Given the description of an element on the screen output the (x, y) to click on. 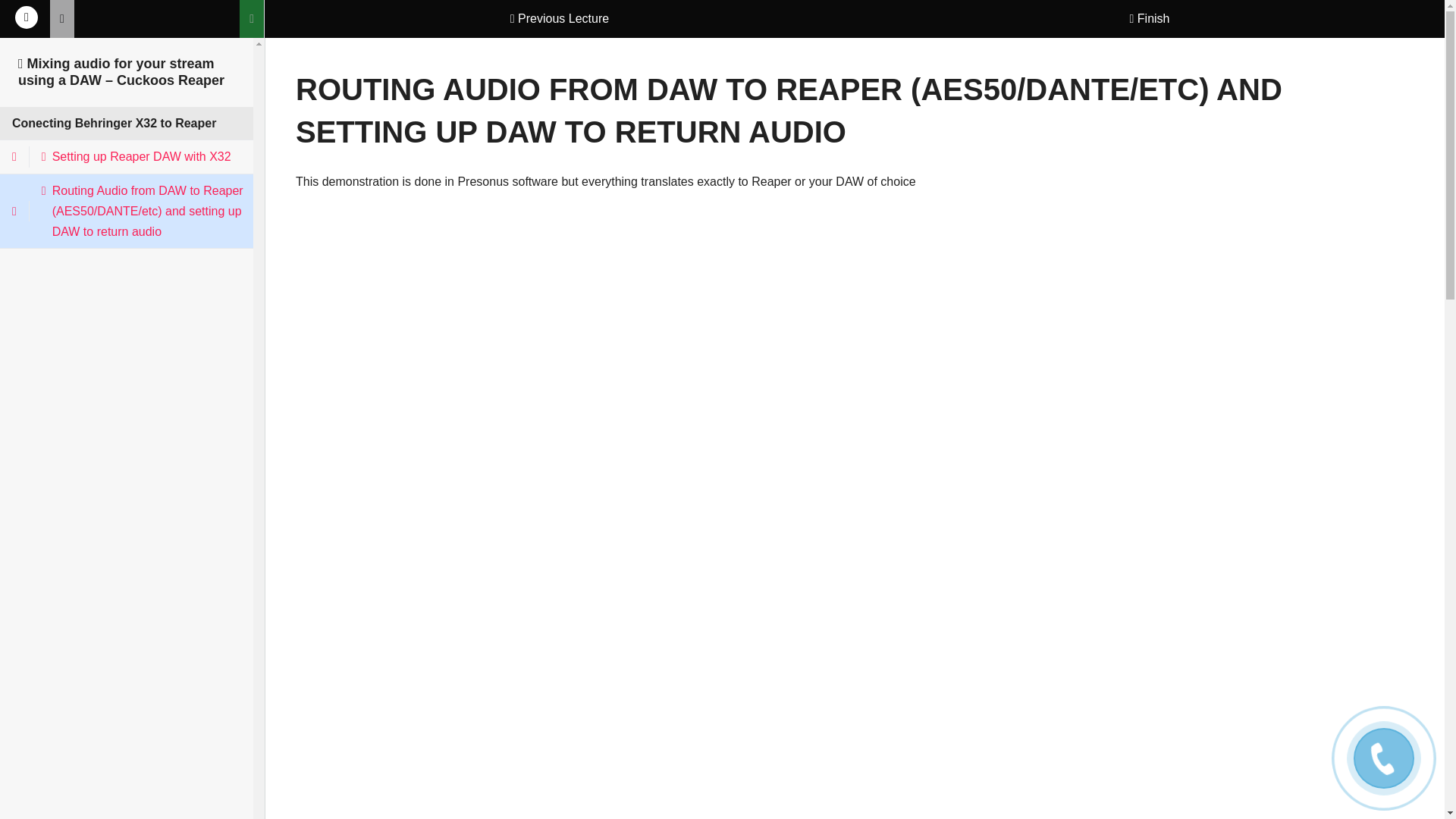
Previous Lecture (559, 18)
Setting up Reaper DAW with X32 (133, 156)
